Given the description of an element on the screen output the (x, y) to click on. 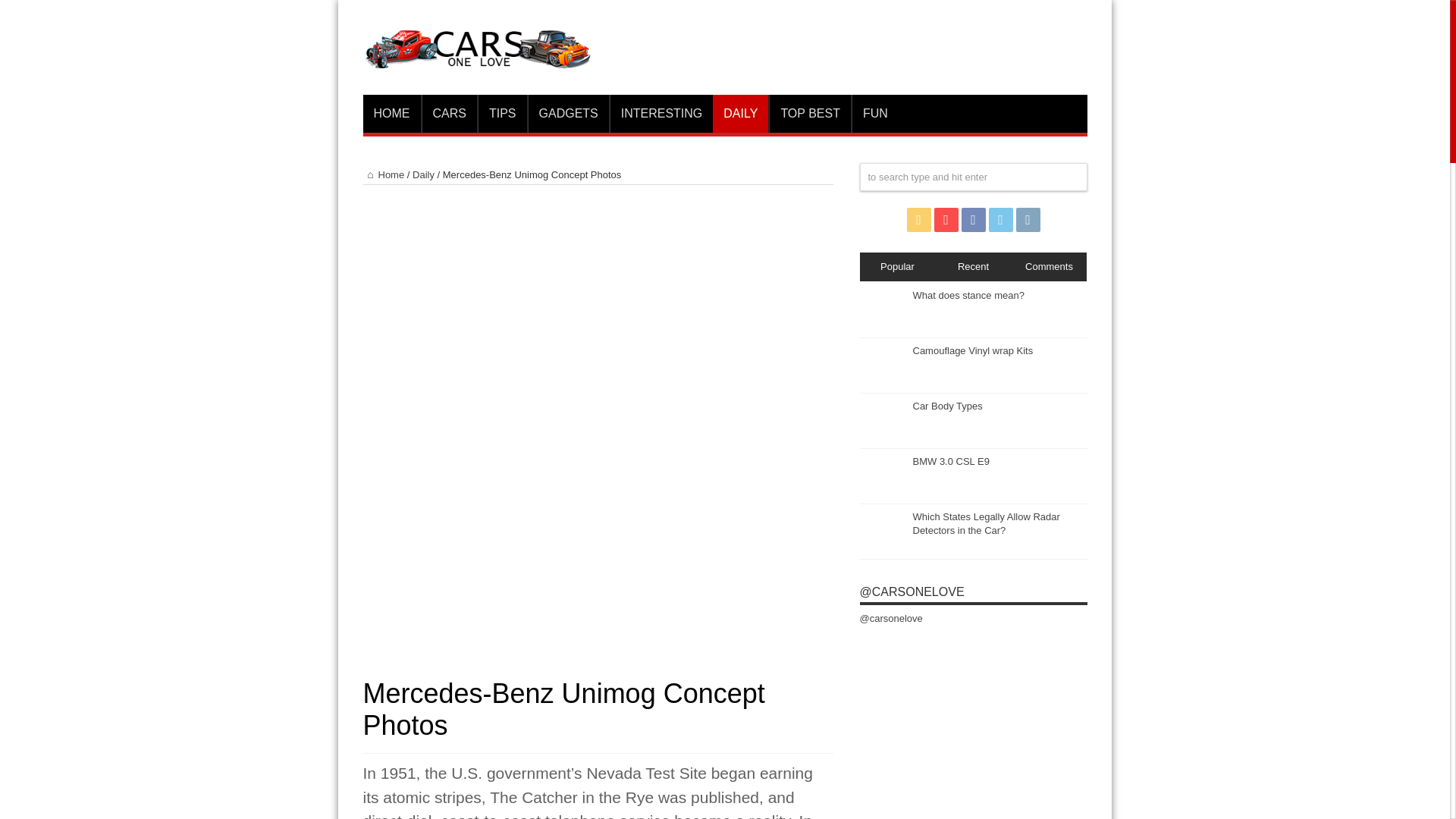
HOME (391, 113)
TIPS (502, 113)
TOP BEST (809, 113)
Home (383, 174)
CARS (449, 113)
GADGETS (567, 113)
Cars One Love (475, 56)
FUN (874, 113)
INTERESTING (661, 113)
to search type and hit enter (973, 176)
